Given the description of an element on the screen output the (x, y) to click on. 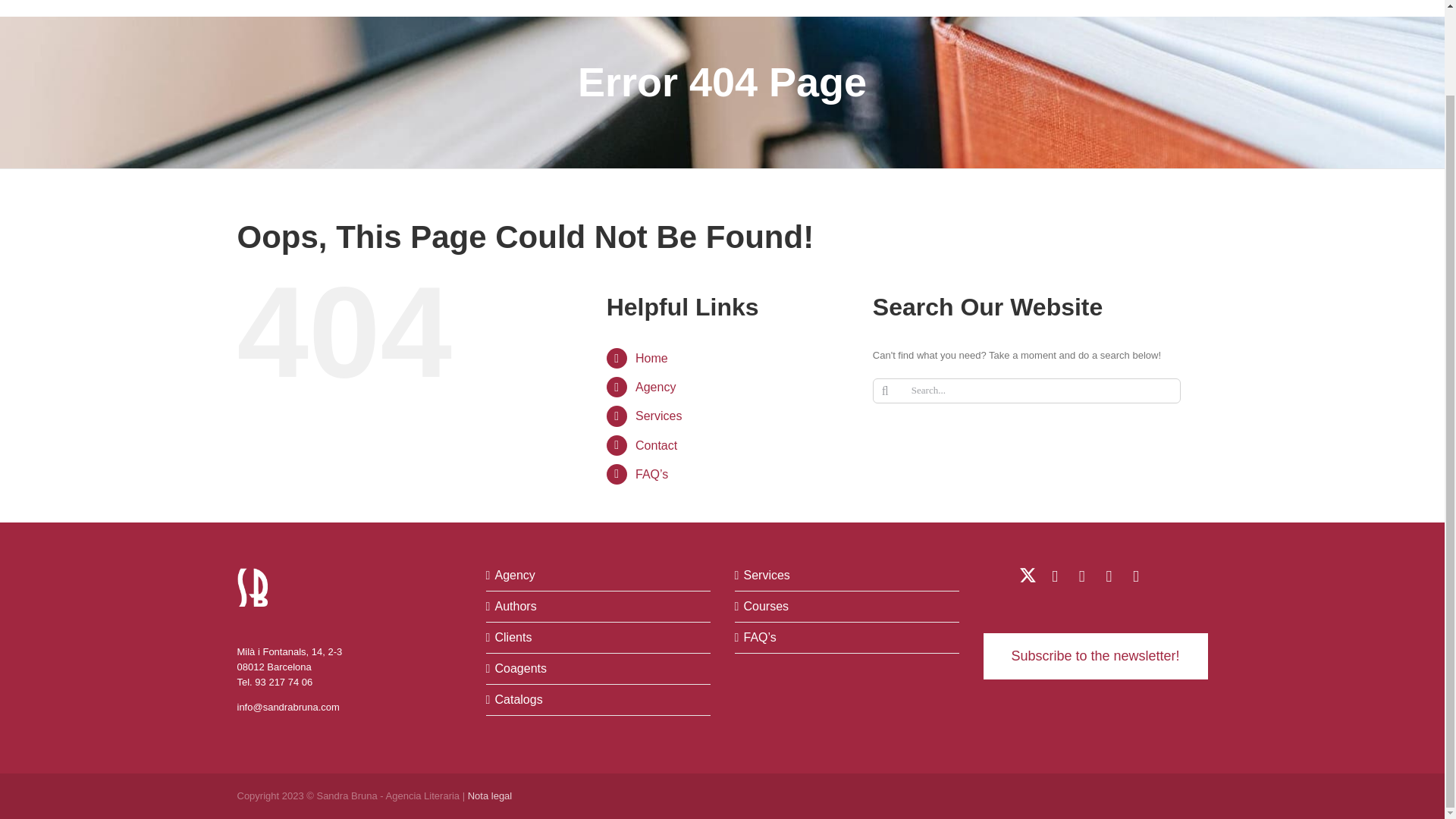
COAGENTS (754, 7)
Home (651, 358)
AGENCY (542, 7)
YouTube (1081, 576)
NEWS (1094, 7)
CATALOGS (834, 7)
LinkedIn (1054, 576)
SERVICES (908, 7)
CONTACT (1155, 7)
Agency (654, 386)
